Given the description of an element on the screen output the (x, y) to click on. 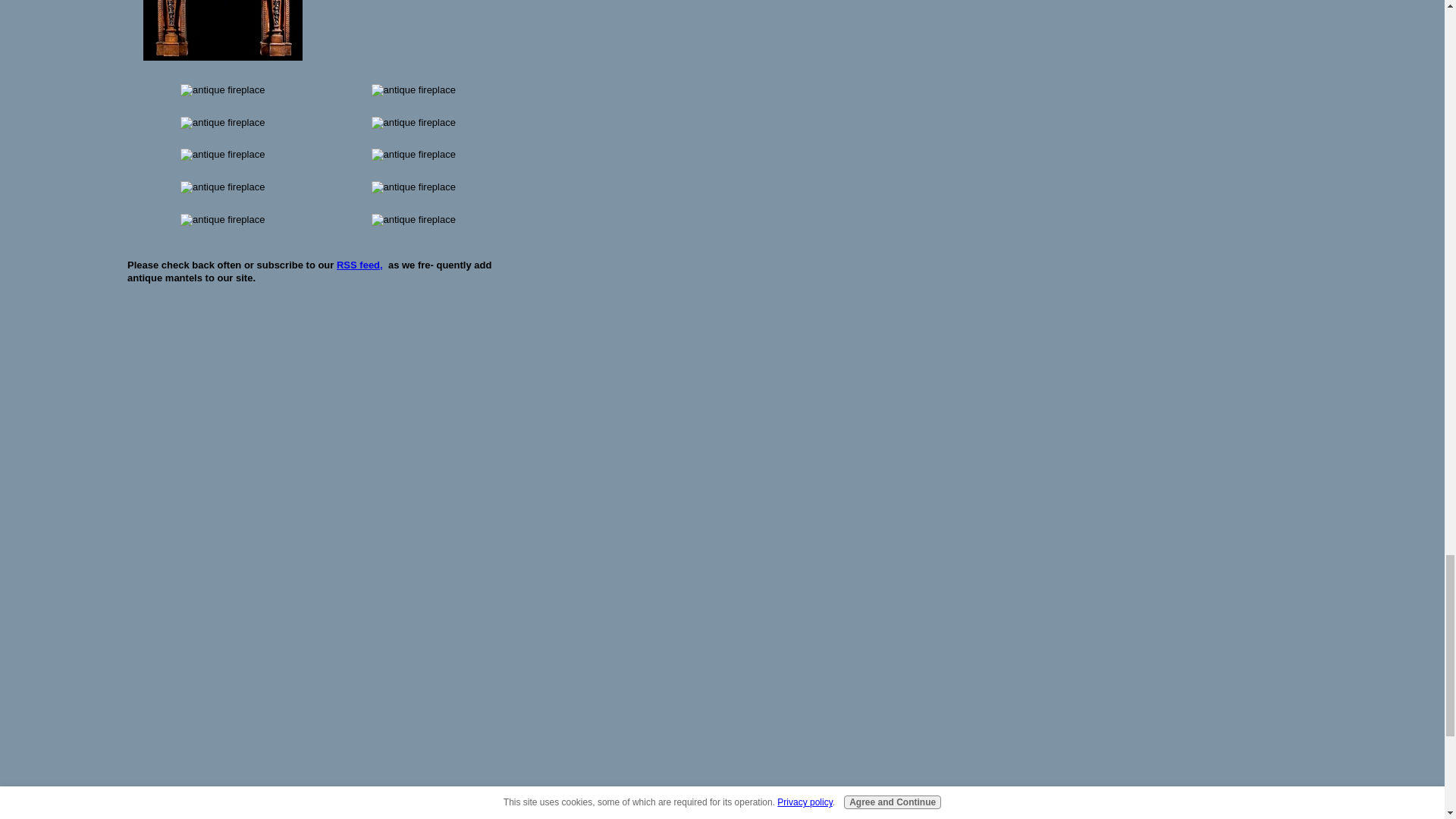
antique fireplace (413, 30)
RSS feed, (359, 265)
antique fireplace (222, 123)
antique fireplace (413, 123)
antique fireplace (222, 90)
antique fireplace (413, 90)
antique fireplace (222, 154)
antique fireplace (222, 30)
